Given the description of an element on the screen output the (x, y) to click on. 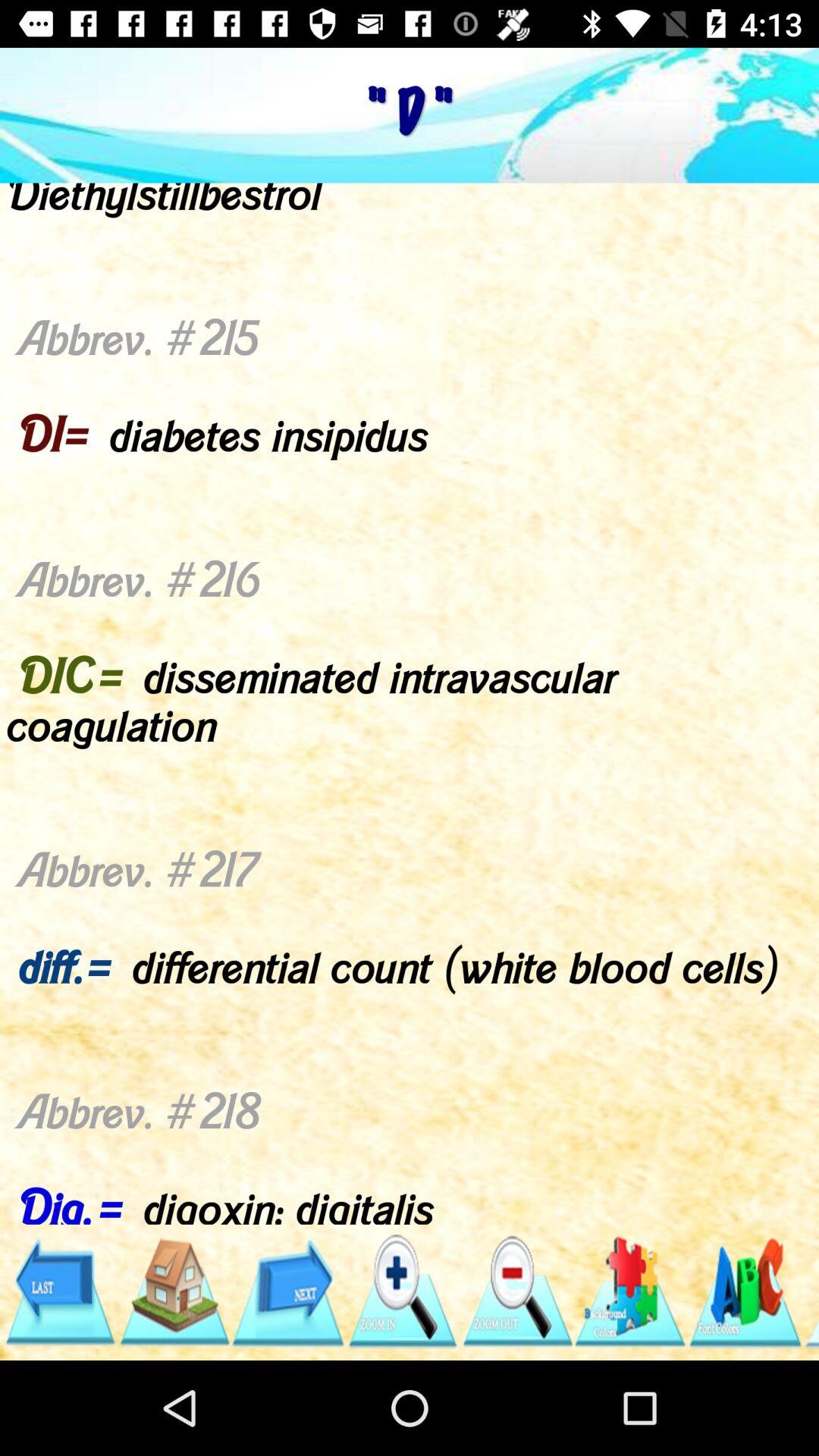
go to home (173, 1291)
